Given the description of an element on the screen output the (x, y) to click on. 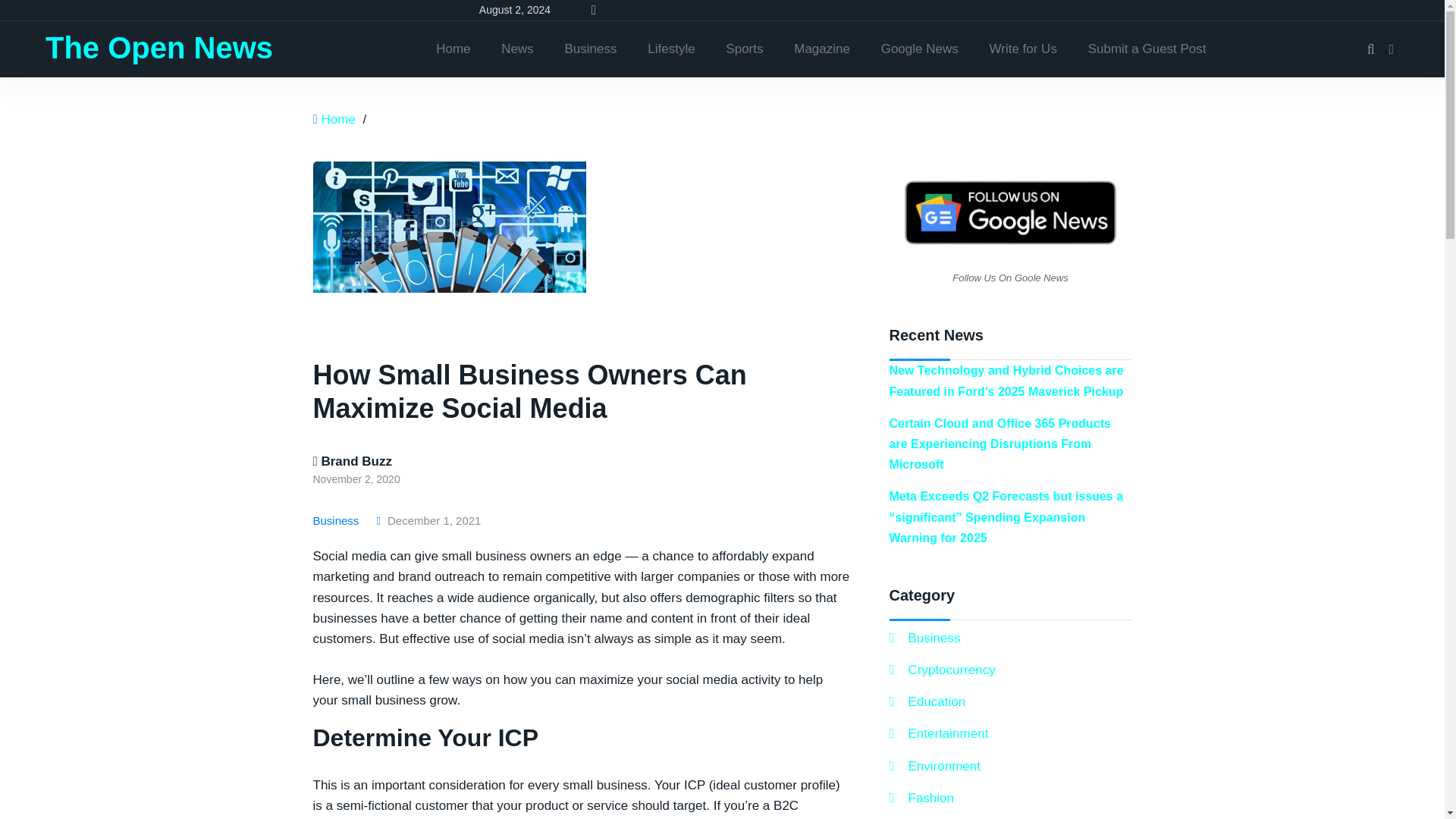
Environment (933, 765)
Magazine (821, 48)
The Open News (159, 47)
Lifestyle (670, 48)
Business (590, 48)
Cryptocurrency (941, 670)
Home (337, 119)
Fashion (920, 797)
Business (923, 638)
Education (926, 701)
